Given the description of an element on the screen output the (x, y) to click on. 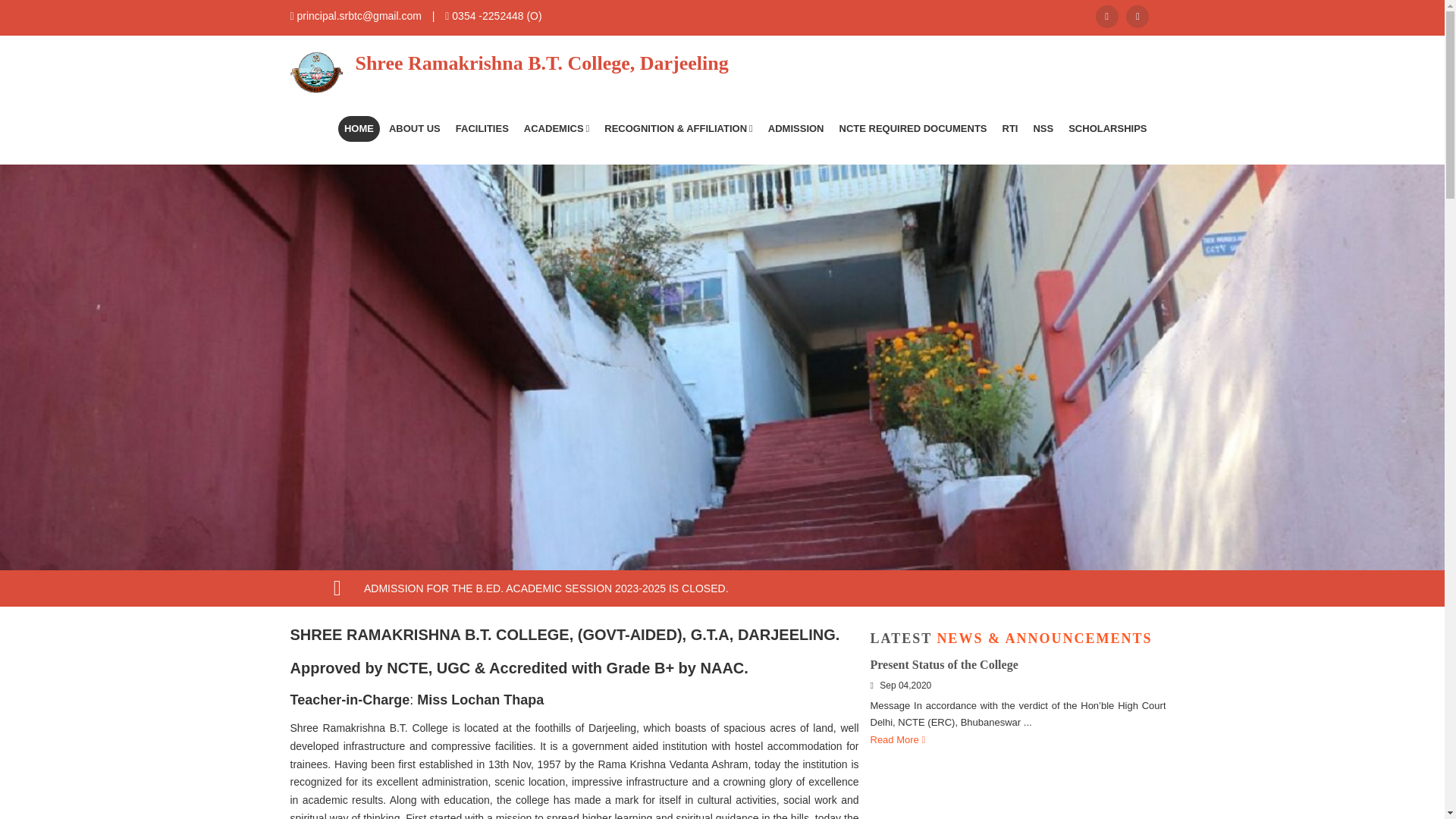
Read More (898, 738)
RTI (1010, 129)
NSS (1042, 129)
NCTE REQUIRED DOCUMENTS (912, 129)
Shree Ramakrishna B.T. College, Darjeeling (508, 74)
ABOUT US (414, 129)
FACILITIES (482, 129)
HOME (358, 129)
Present Status of the College (943, 664)
ADMISSION (795, 129)
